Given the description of an element on the screen output the (x, y) to click on. 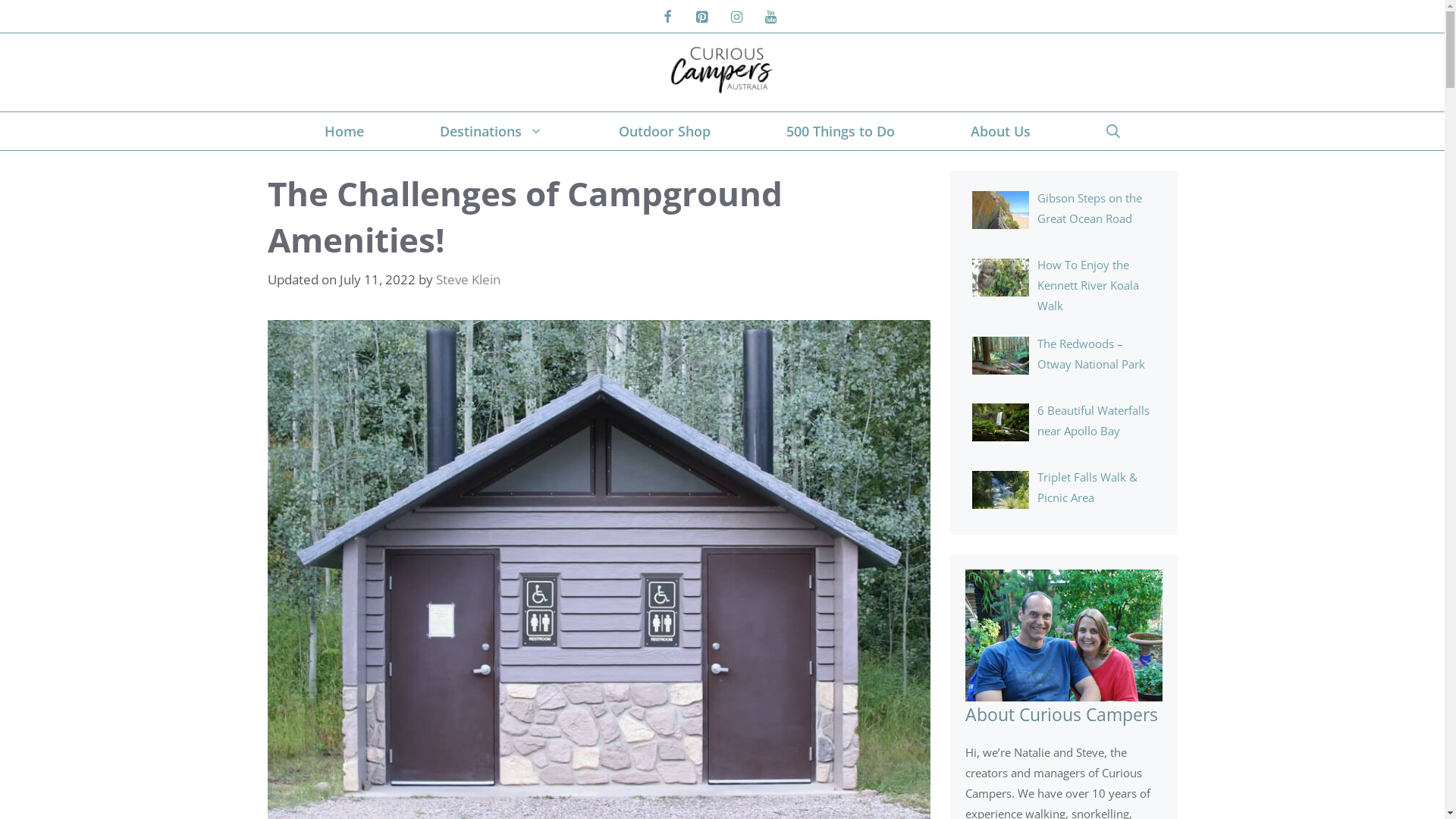
About Us Element type: text (1000, 131)
Triplet Falls Walk & Picnic Area Element type: text (1087, 487)
500 Things to Do Element type: text (840, 131)
Destinations Element type: text (490, 131)
Steve Klein Element type: text (467, 279)
Instagram Element type: hover (735, 17)
Pinterest Element type: hover (701, 17)
Home Element type: text (343, 131)
Outdoor Shop Element type: text (664, 131)
How To Enjoy the Kennett River Koala Walk Element type: text (1088, 285)
YouTube Element type: hover (770, 17)
Gibson Steps on the Great Ocean Road Element type: text (1089, 207)
6 Beautiful Waterfalls near Apollo Bay Element type: text (1093, 420)
Facebook Element type: hover (666, 17)
